Given the description of an element on the screen output the (x, y) to click on. 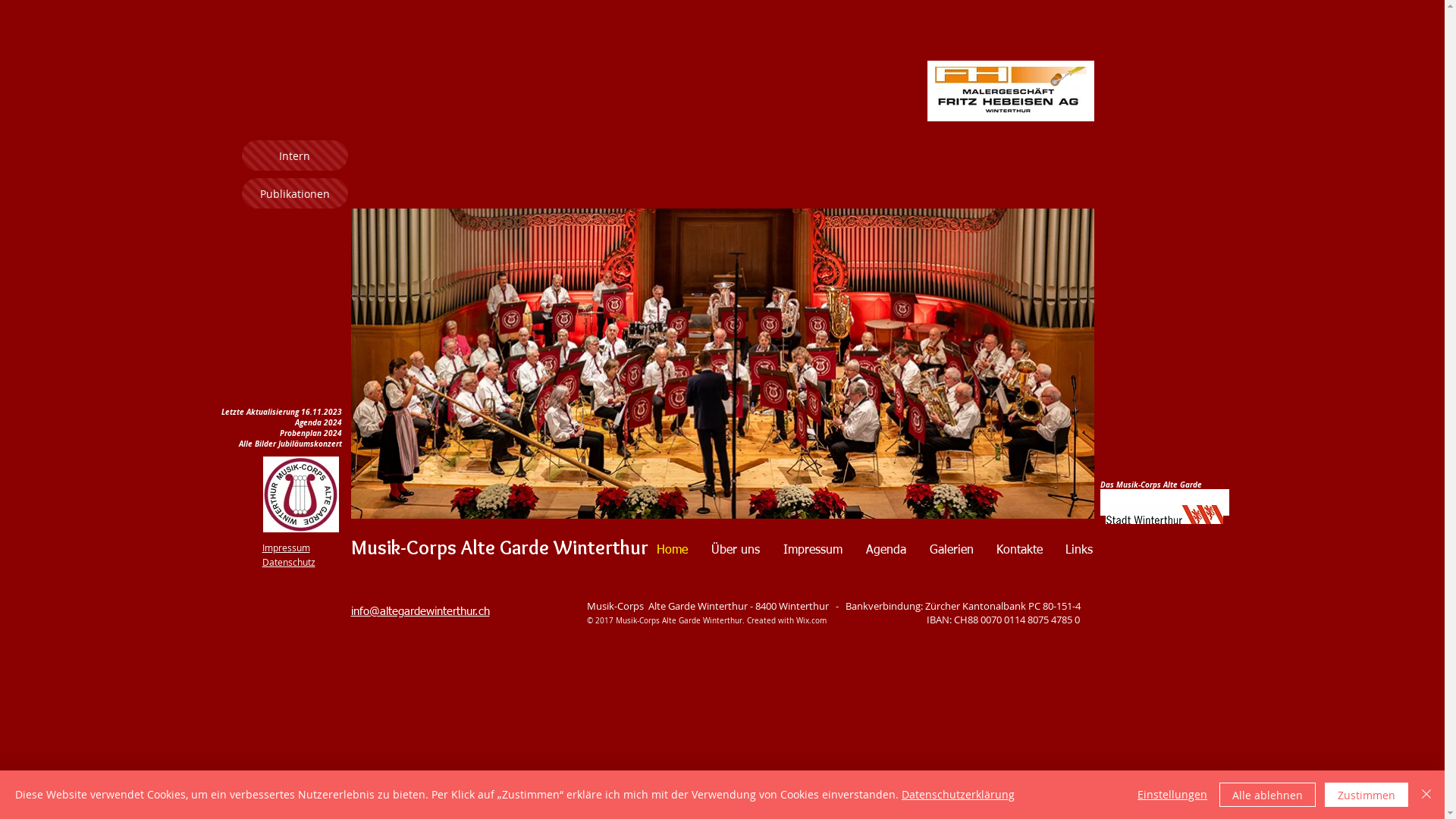
Alle ablehnen Element type: text (1267, 794)
Intern Element type: text (294, 155)
Agenda Element type: text (885, 550)
Publikationen Element type: text (294, 193)
Impressum Element type: text (286, 547)
Datenschutz Element type: text (288, 561)
info@altegardewinterthur.ch Element type: text (419, 610)
Impressum Element type: text (812, 550)
Home Element type: text (671, 550)
Kontakte Element type: text (1018, 550)
Zustimmen Element type: text (1366, 794)
Galerien Element type: text (950, 550)
Links Element type: text (1079, 550)
Wix.com Element type: text (811, 620)
